Given the description of an element on the screen output the (x, y) to click on. 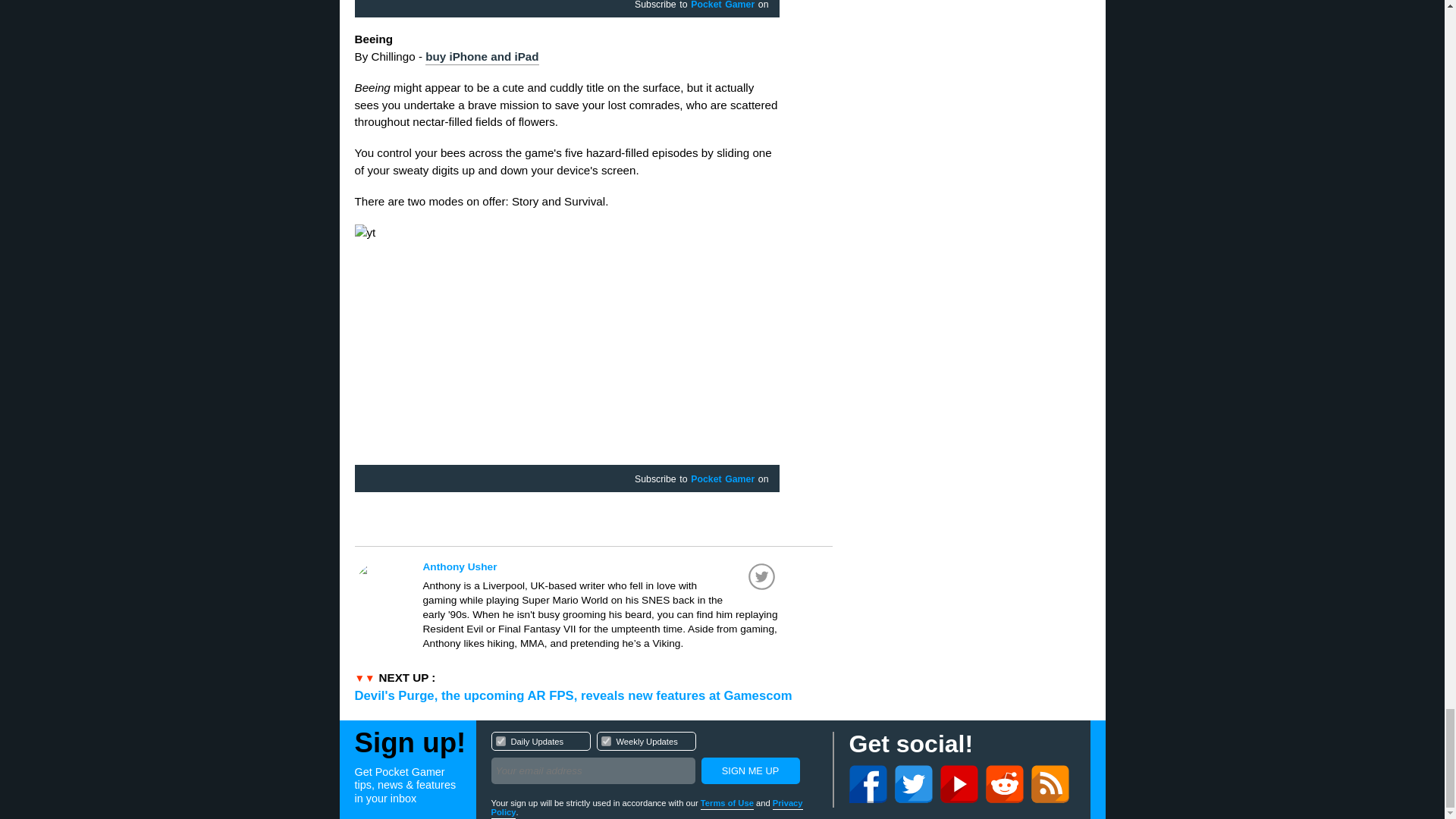
1 (500, 741)
2 (604, 741)
Sign Me Up (654, 759)
